Given the description of an element on the screen output the (x, y) to click on. 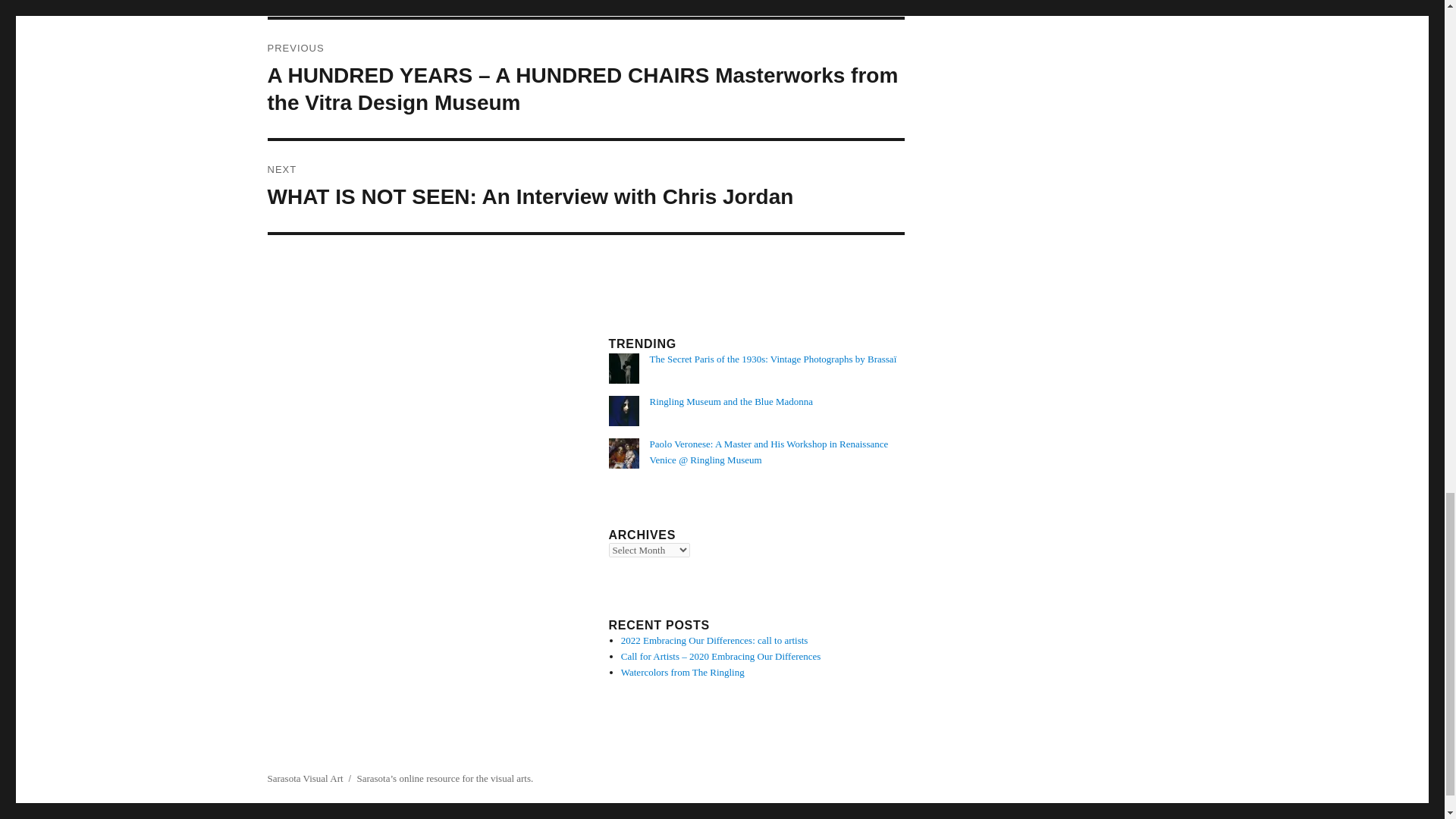
Ringling Museum and the Blue Madonna (731, 401)
Ringling Museum and the Blue Madonna (731, 401)
2022 Embracing Our Differences: call to artists (714, 640)
Watercolors from The Ringling (682, 672)
